Given the description of an element on the screen output the (x, y) to click on. 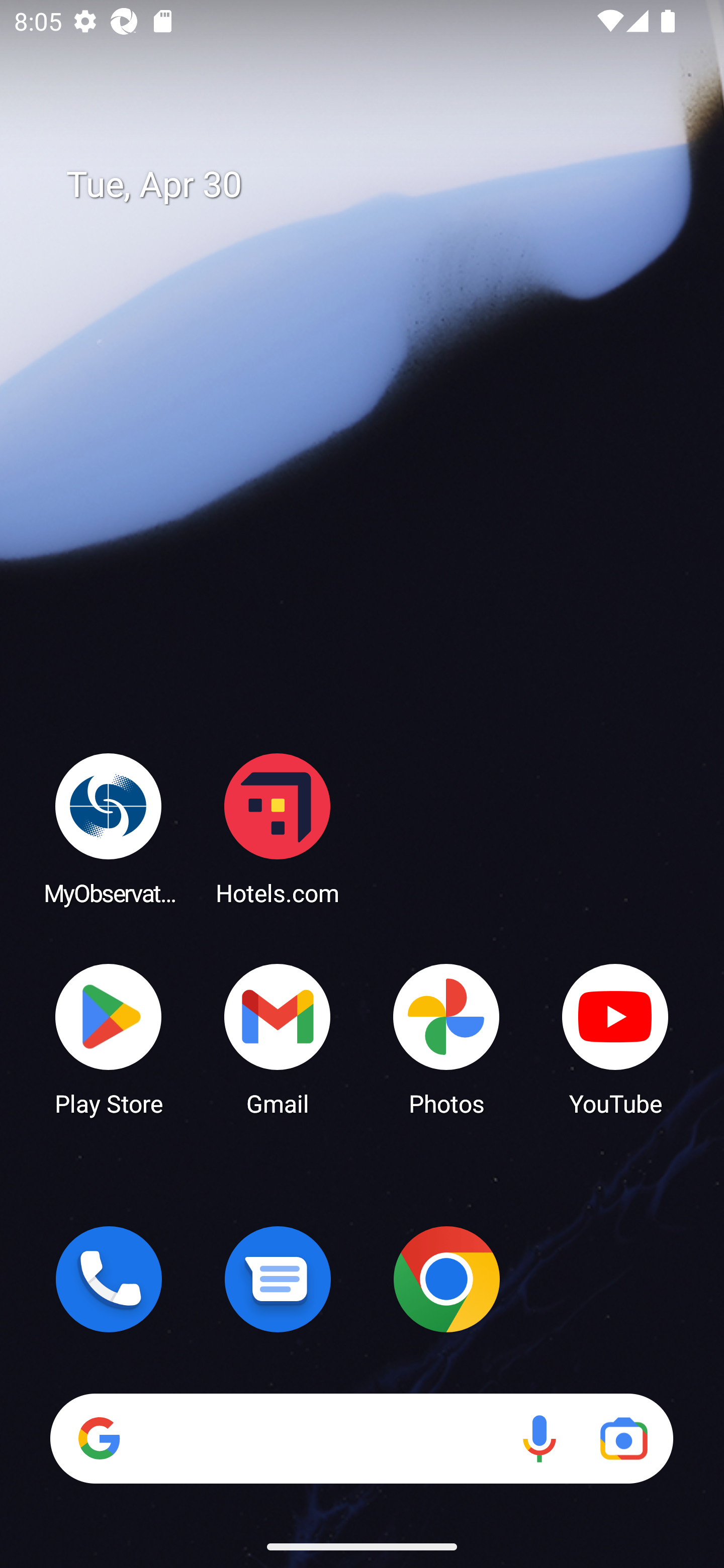
Tue, Apr 30 (375, 184)
MyObservatory (108, 828)
Hotels.com (277, 828)
Play Store (108, 1038)
Gmail (277, 1038)
Photos (445, 1038)
YouTube (615, 1038)
Phone (108, 1279)
Messages (277, 1279)
Chrome (446, 1279)
Voice search (539, 1438)
Google Lens (623, 1438)
